Given the description of an element on the screen output the (x, y) to click on. 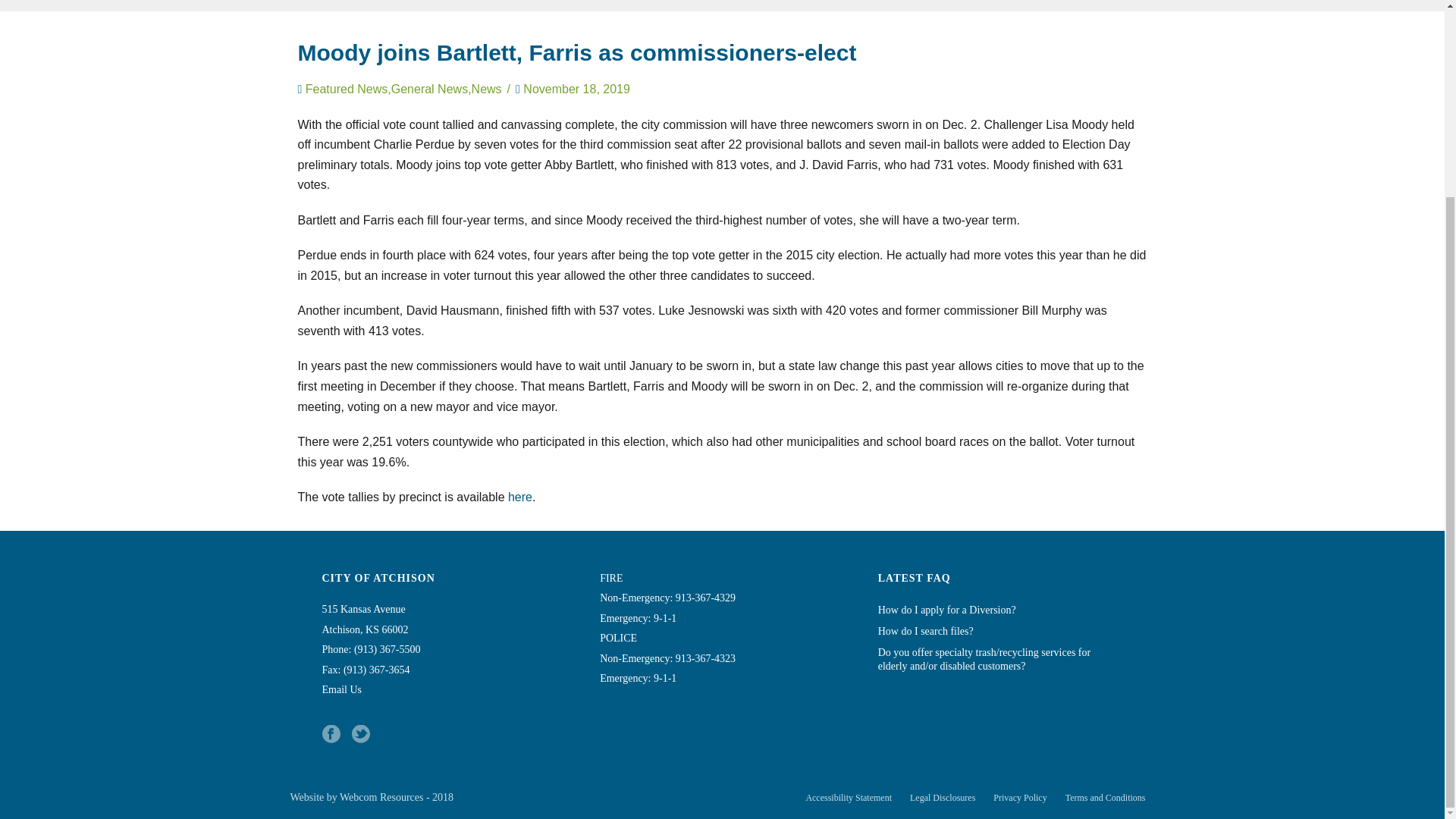
8:27 PM (576, 88)
Follow Us on twitter (360, 734)
Follow Us on facebook (330, 734)
8:27 PM (576, 89)
